Given the description of an element on the screen output the (x, y) to click on. 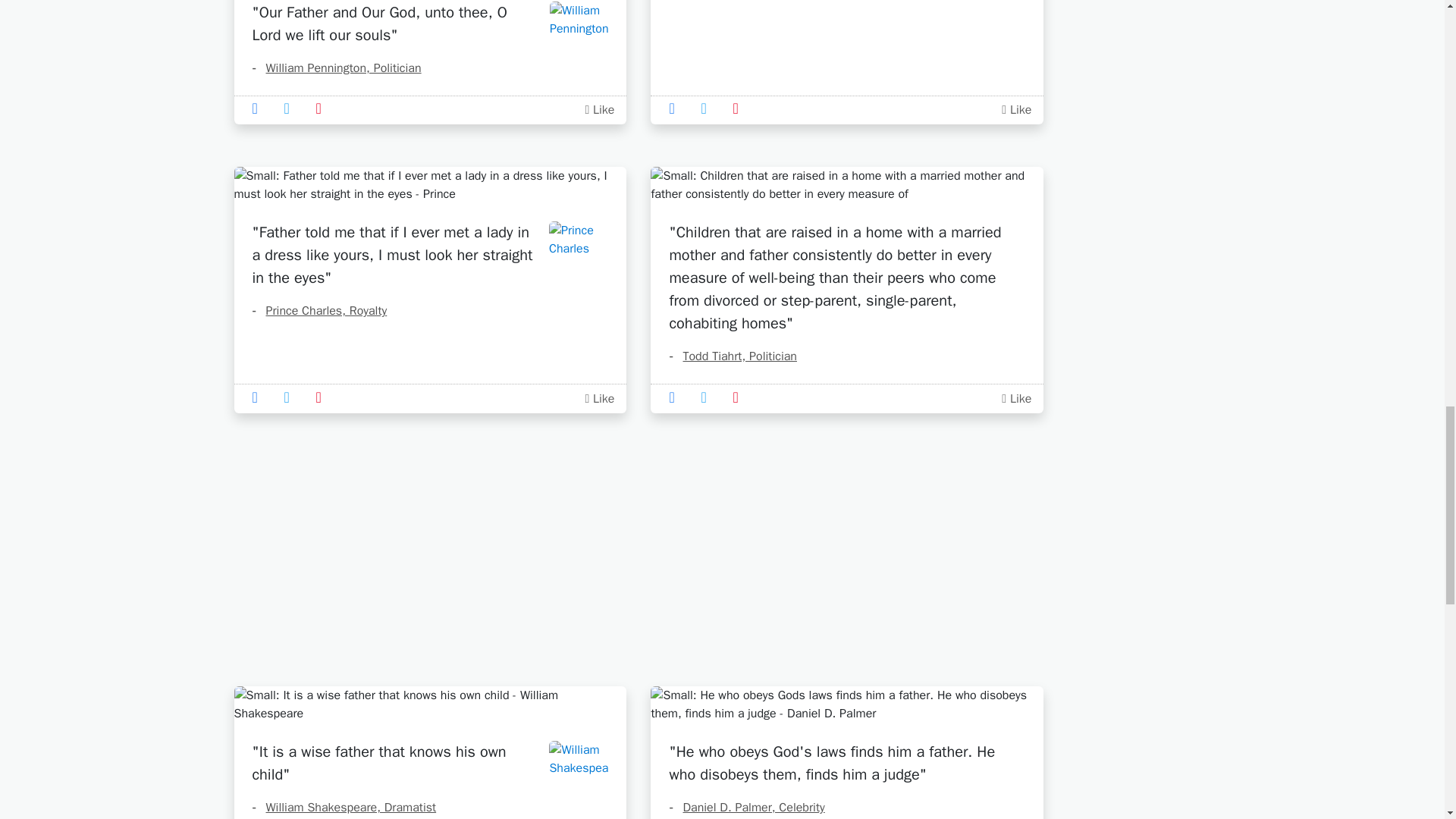
Share on Facebook (258, 108)
Prince Charles, Royalty (319, 310)
Share on Pinterest (322, 396)
William Pennington, Politician (335, 68)
Share on Pinterest (740, 108)
Daniel D. Palmer, Celebrity (746, 807)
Vote on the best quotes (1017, 109)
William Shakespeare, Dramatist (343, 807)
Todd Tiahrt, Politician (732, 355)
Share on Pinterest (322, 108)
